Given the description of an element on the screen output the (x, y) to click on. 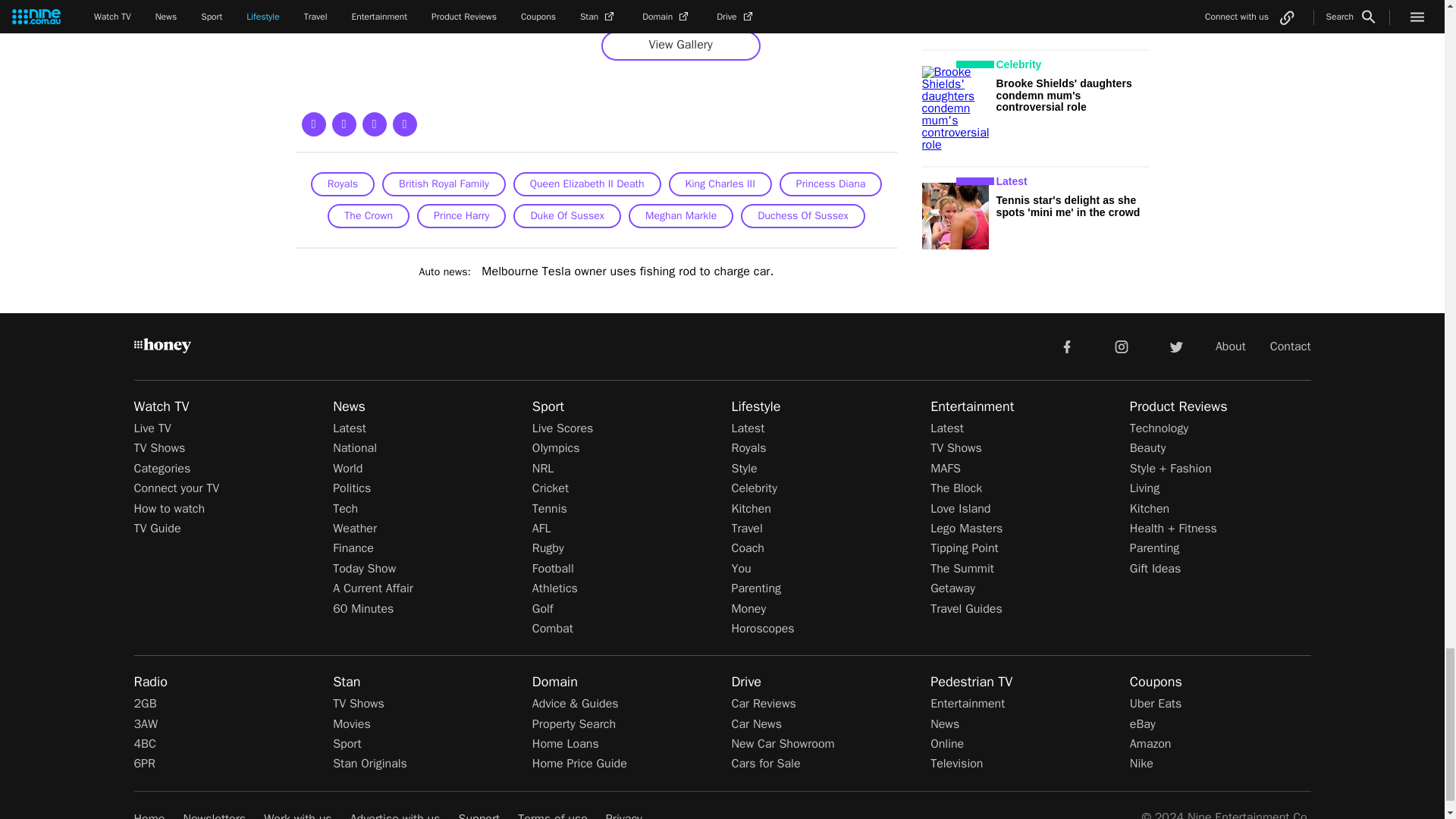
instagram (1121, 345)
facebook (1066, 345)
twitter (1175, 345)
